Given the description of an element on the screen output the (x, y) to click on. 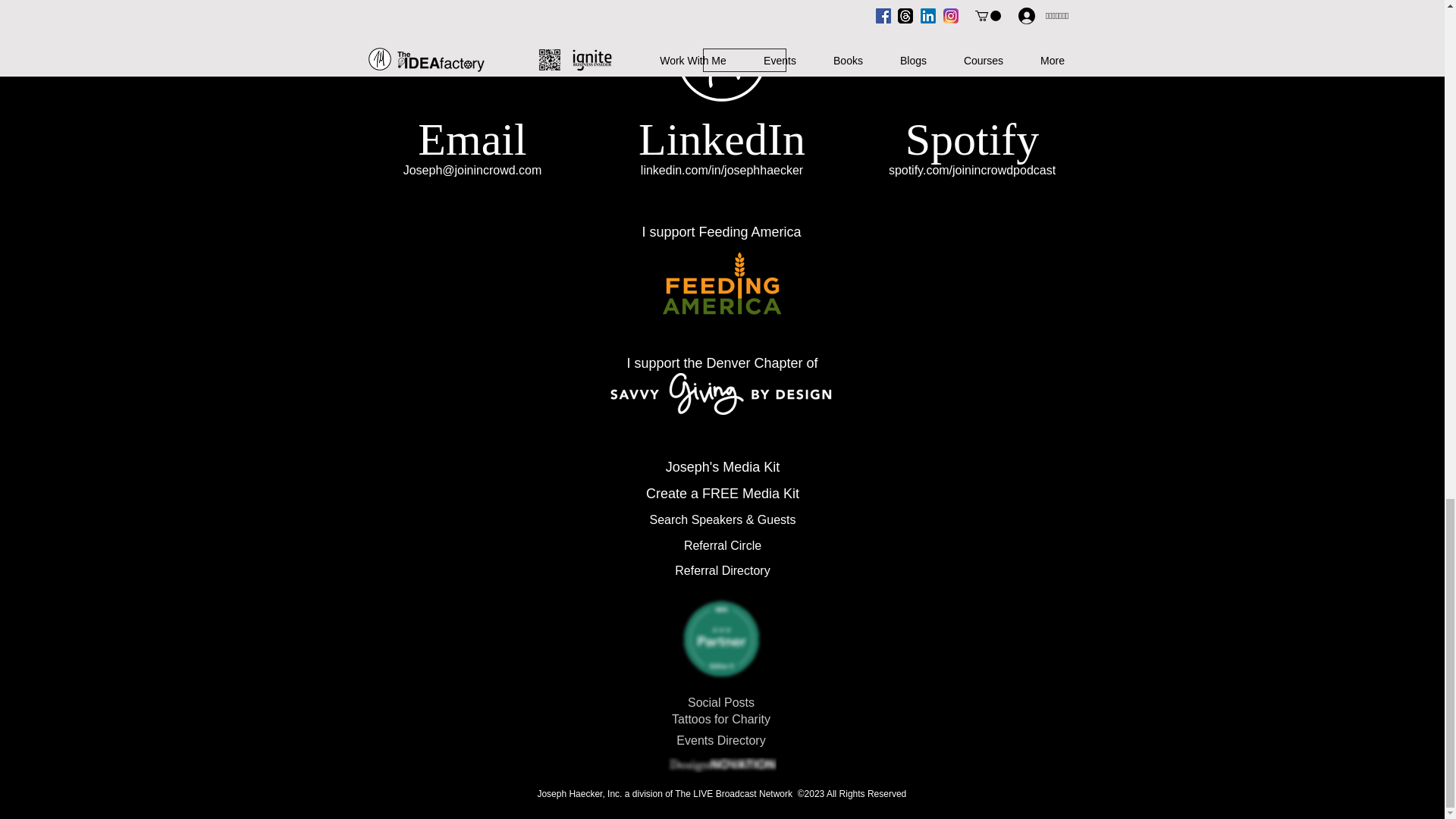
Email (471, 139)
Spotify (972, 139)
Creator.png (720, 638)
Joseph Haecker - Logo Round - White on B (722, 56)
I support Feeding America (721, 231)
LinkedIn (722, 139)
